Given the description of an element on the screen output the (x, y) to click on. 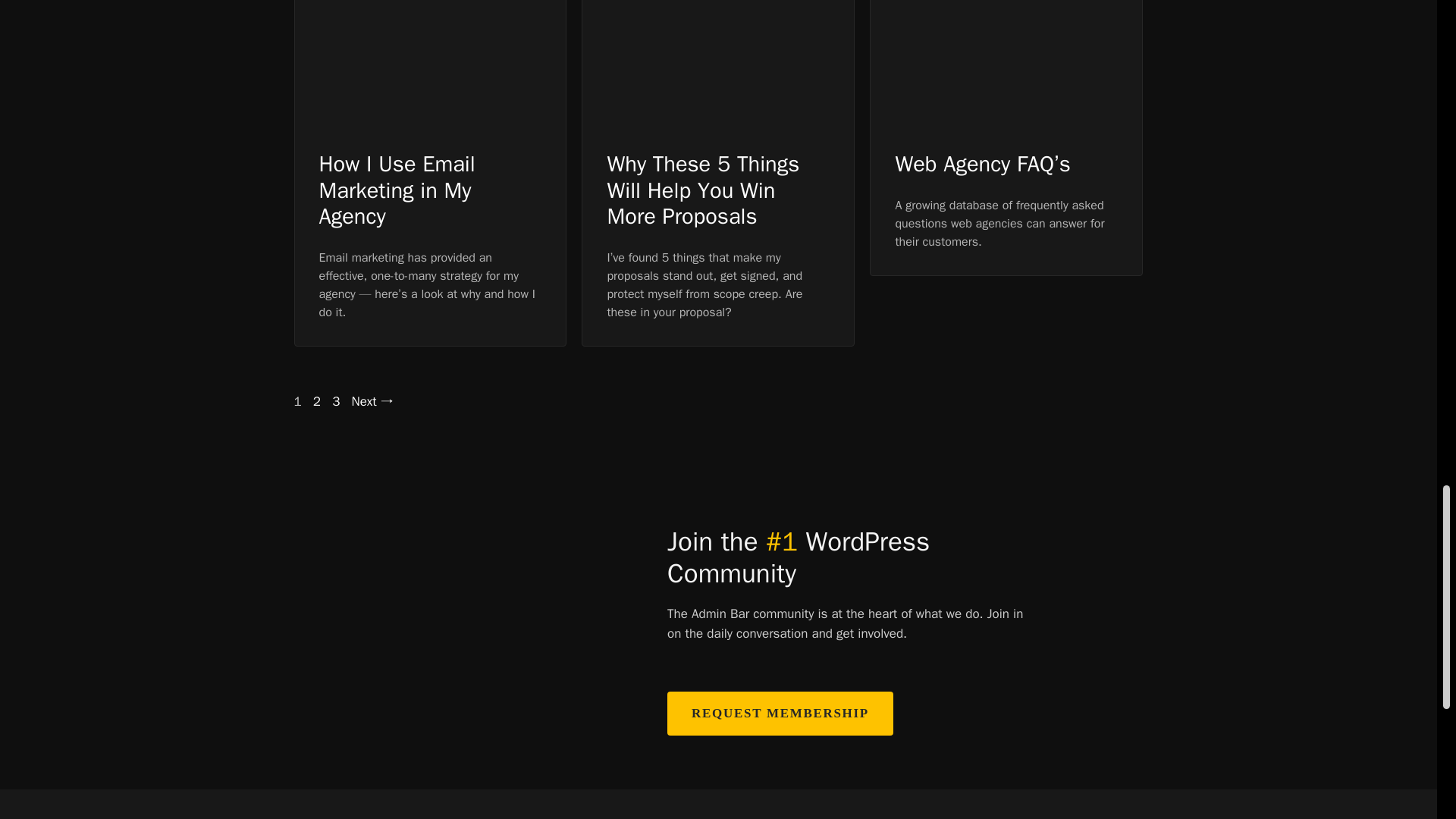
Why These 5 Things Will Help You Win More Proposals (703, 189)
How I Use Email Marketing in My Agency (396, 189)
